Given the description of an element on the screen output the (x, y) to click on. 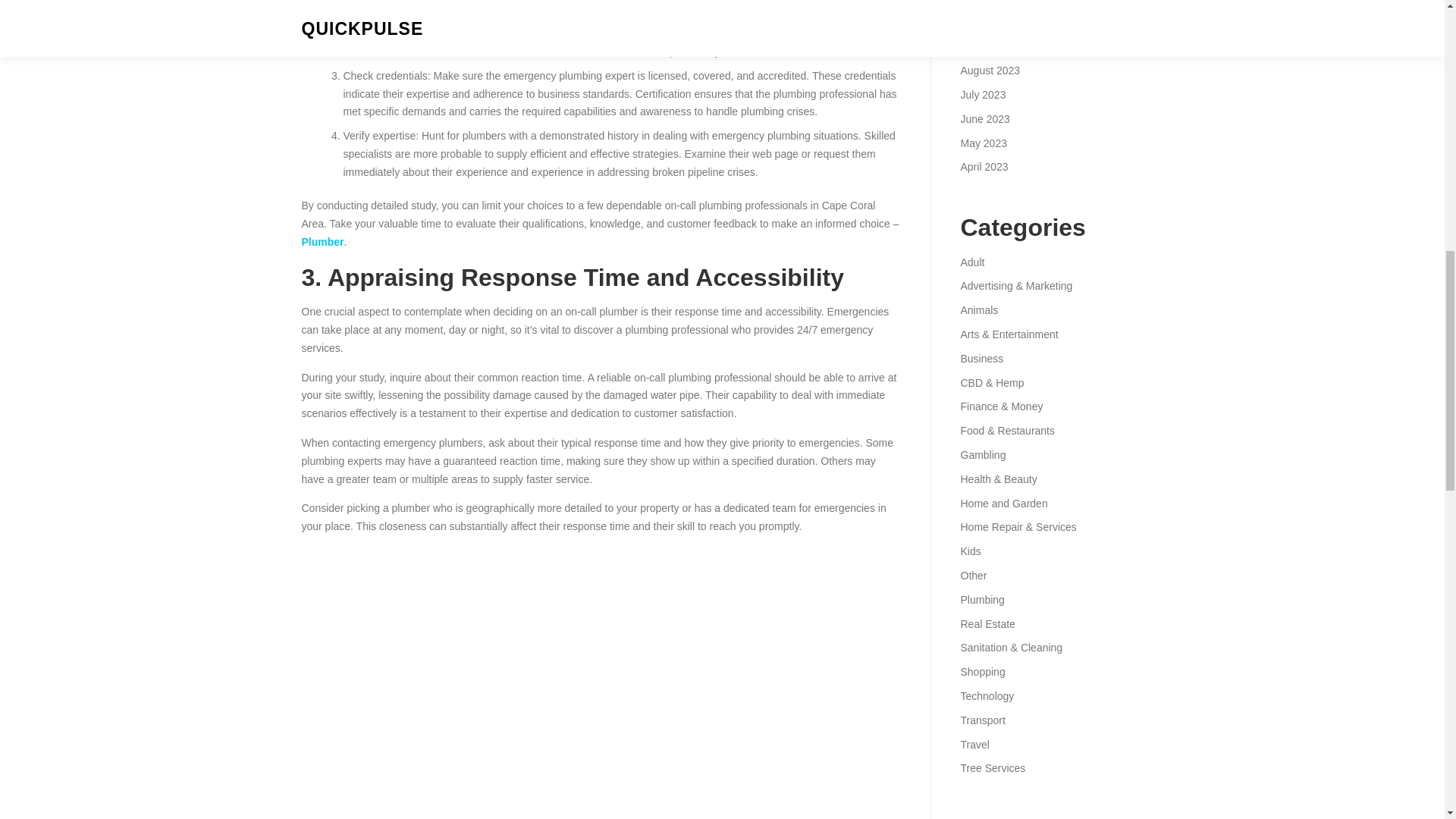
April 2023 (983, 166)
July 2023 (982, 94)
June 2023 (984, 119)
Animals (978, 309)
Business (981, 358)
August 2023 (989, 70)
May 2023 (982, 143)
September 2023 (999, 46)
Adult (971, 262)
October 2023 (992, 22)
Plumber (322, 241)
November 2023 (997, 2)
